Given the description of an element on the screen output the (x, y) to click on. 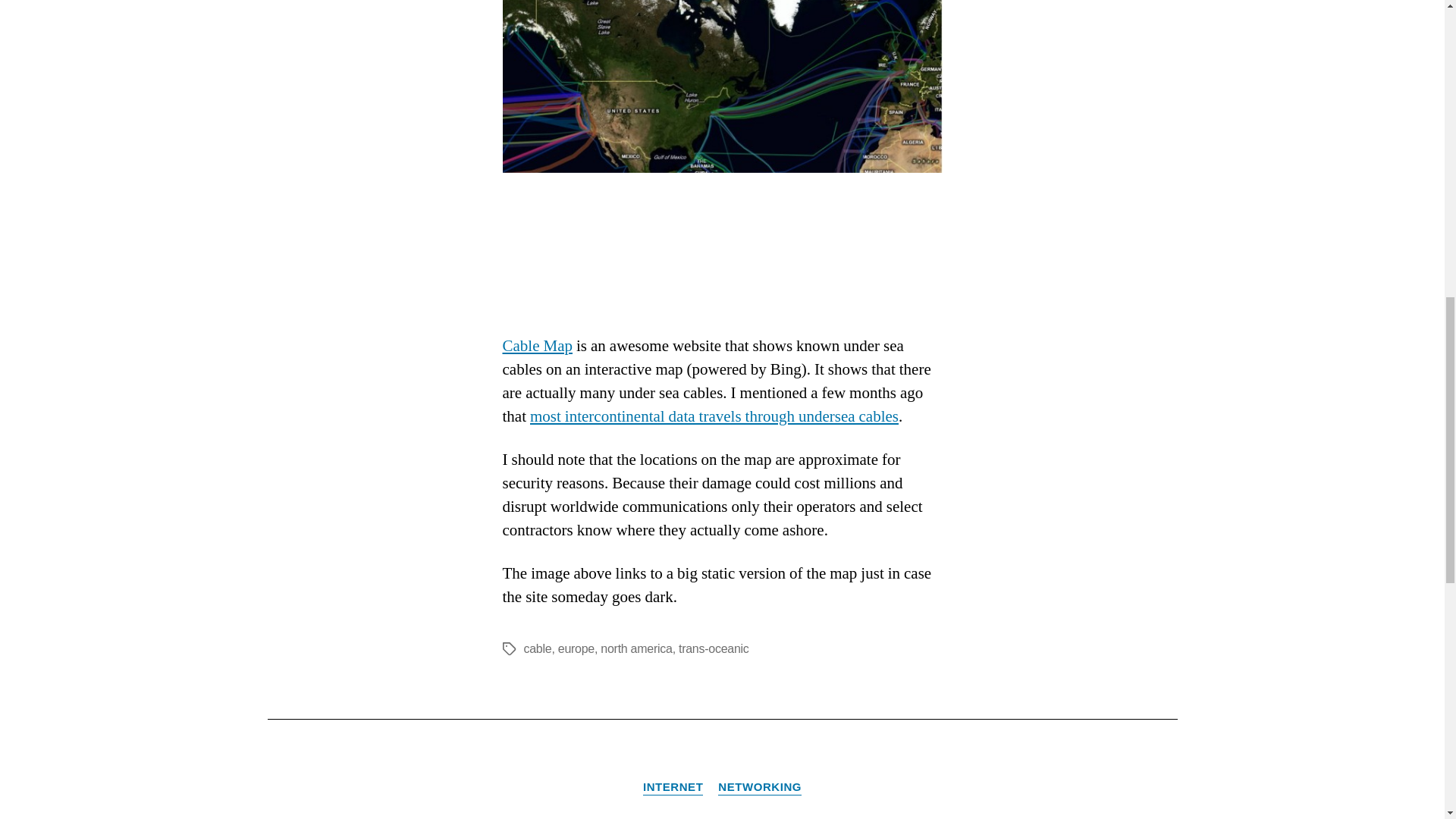
Undersea Cable Map (722, 152)
cable (536, 648)
most intercontinental data travels through undersea cables (713, 416)
INTERNET (673, 787)
trans-oceanic (713, 648)
north america (635, 648)
Cable Map (537, 345)
NETWORKING (759, 787)
europe (575, 648)
